Given the description of an element on the screen output the (x, y) to click on. 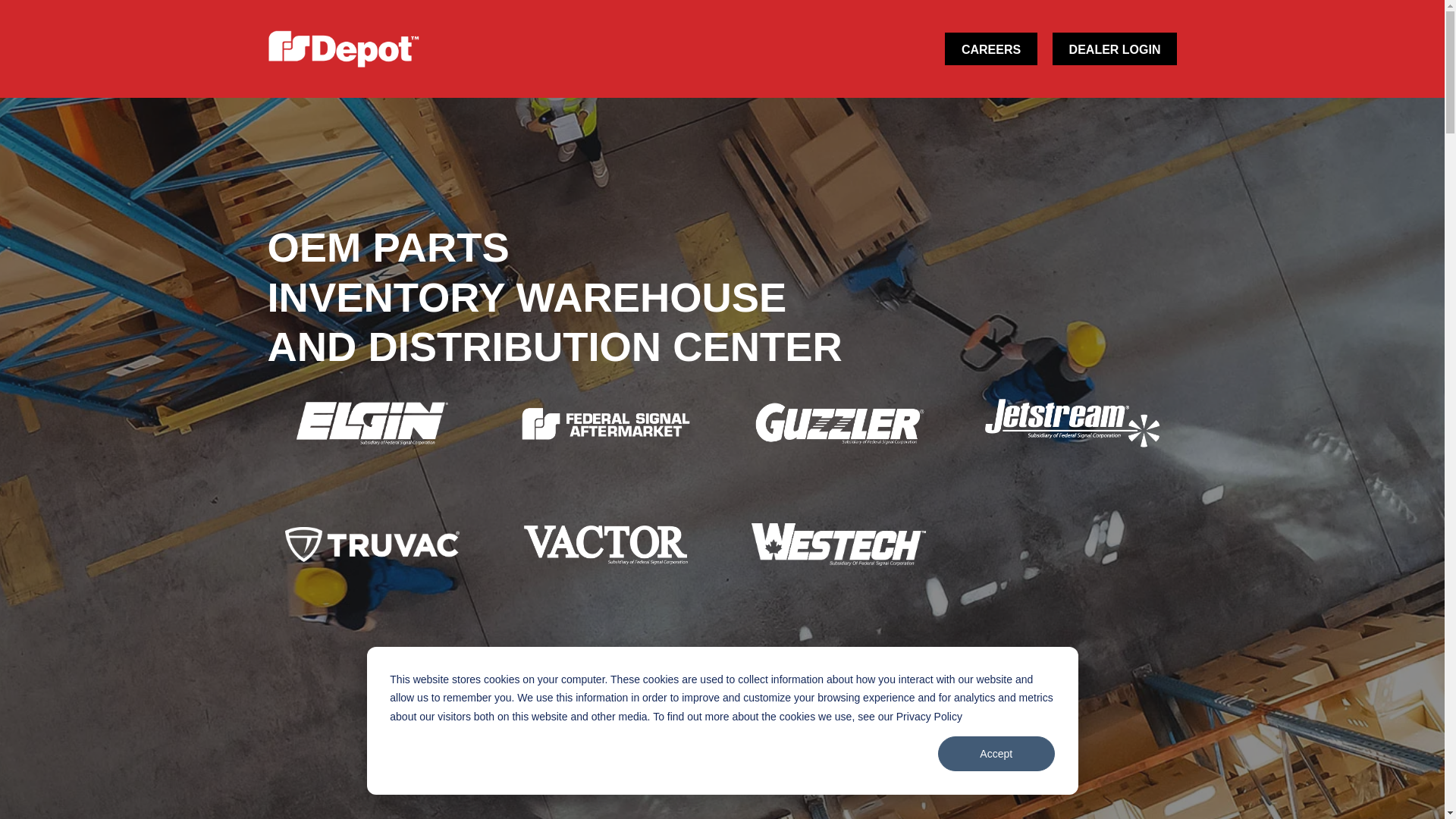
Vactor Logo (605, 544)
FSDepot.white (342, 48)
Westech Logo (838, 544)
CAREERS (990, 48)
Elgin Logo (372, 423)
DEALER LOGIN (1114, 48)
CAREERS (990, 48)
TRUVAC Logo (372, 544)
DEALER LOGIN (1114, 48)
Jetstream Logo (1071, 422)
FS Aftermarket Logo (605, 423)
Guzzler Logo (838, 423)
